Given the description of an element on the screen output the (x, y) to click on. 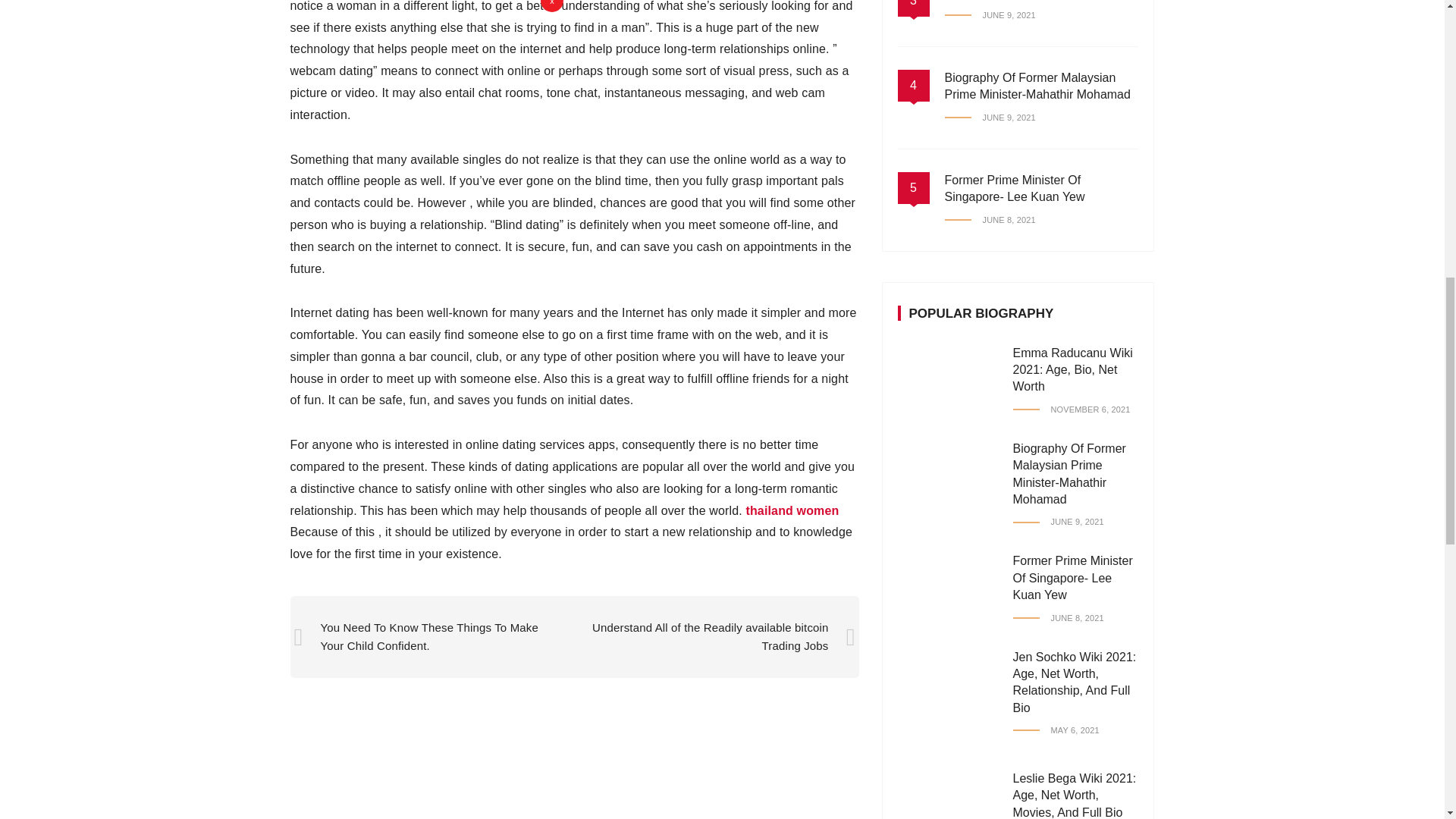
JUNE 9, 2021 (1058, 521)
thailand women (791, 510)
JUNE 9, 2021 (989, 15)
Understand All of the Readily available bitcoin Trading Jobs (710, 635)
Former Prime Minister Of Singapore- Lee Kuan Yew (1072, 577)
NOVEMBER 6, 2021 (1072, 409)
JUNE 8, 2021 (1058, 617)
JUNE 8, 2021 (989, 219)
Former Prime Minister Of Singapore- Lee Kuan Yew (1014, 188)
JUNE 9, 2021 (989, 117)
You Need To Know These Things To Make Your Child Confident. (428, 635)
Emma Raducanu Wiki 2021: Age, Bio, Net Worth (1072, 369)
